Given the description of an element on the screen output the (x, y) to click on. 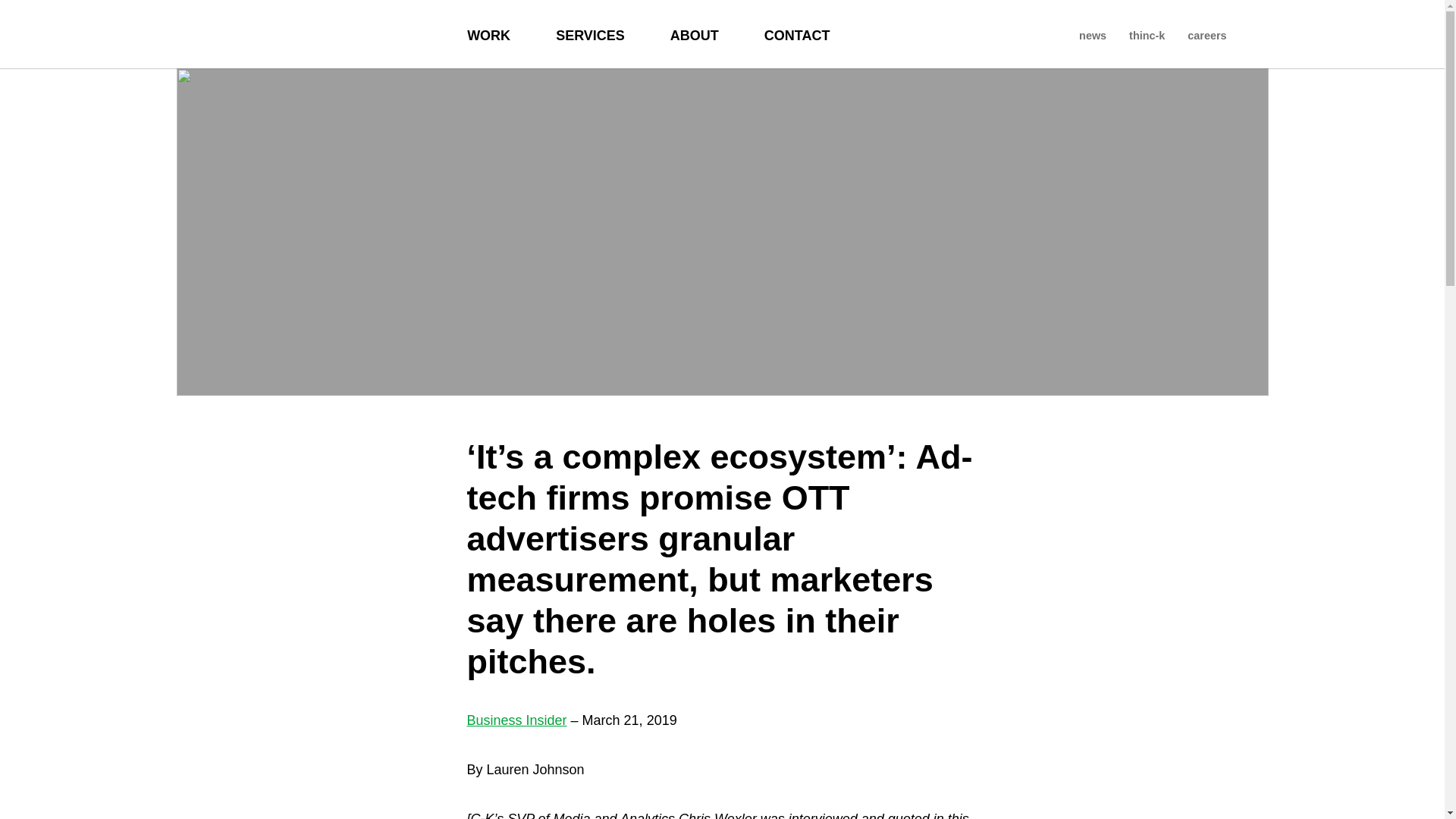
work (488, 33)
services (589, 33)
WORK (488, 33)
CONTACT (797, 33)
Business Insider (517, 720)
about (694, 33)
careers (1206, 33)
contact (797, 33)
ABOUT (694, 33)
SERVICES (589, 33)
